Given the description of an element on the screen output the (x, y) to click on. 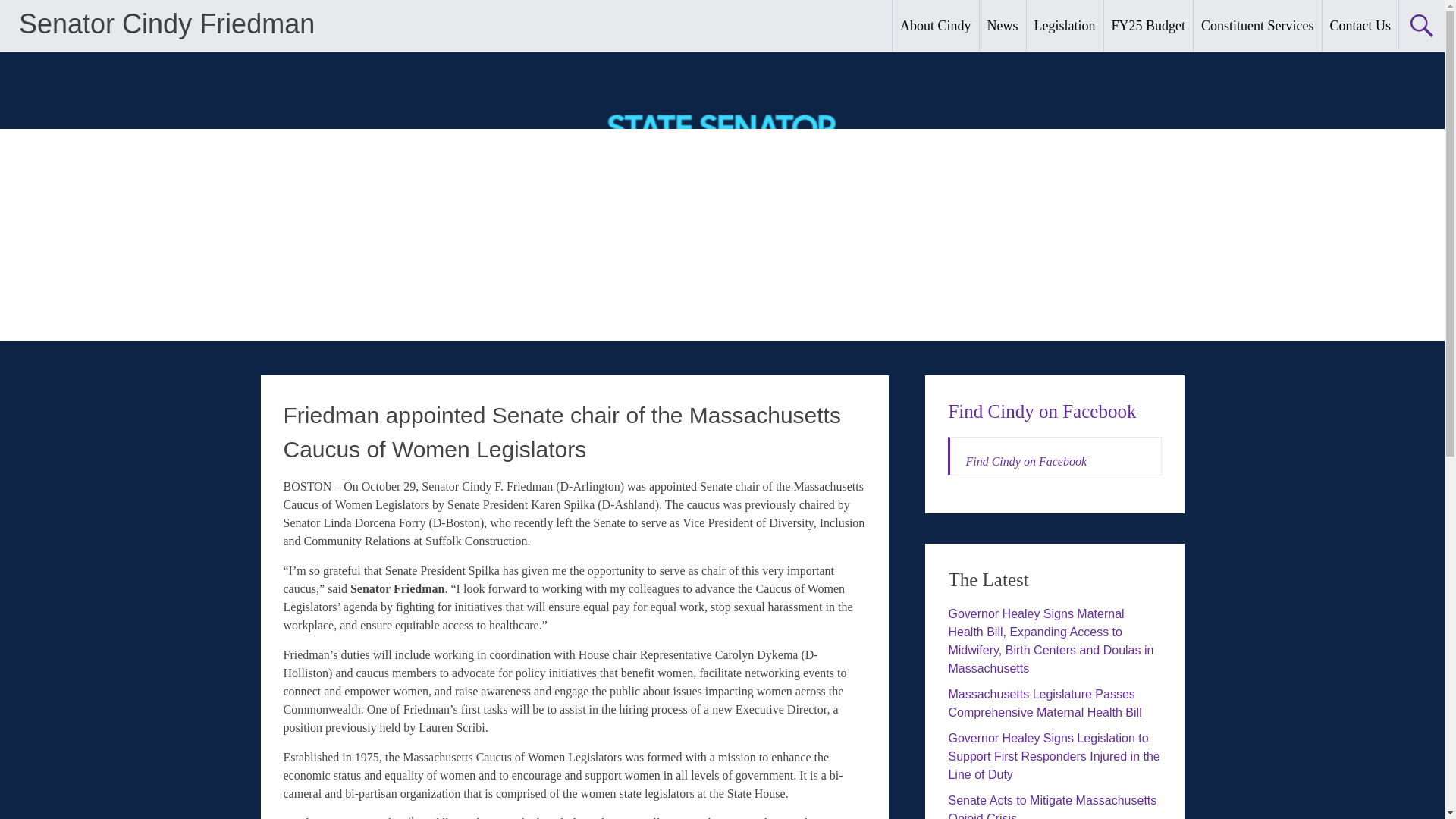
Find Cindy on Facebook (1025, 461)
Legislation (1064, 25)
FY25 Budget (1148, 25)
Contact Us (1360, 25)
About Cindy (935, 25)
Senator Cindy Friedman (166, 23)
Senator Cindy Friedman (166, 23)
News (1002, 25)
